Given the description of an element on the screen output the (x, y) to click on. 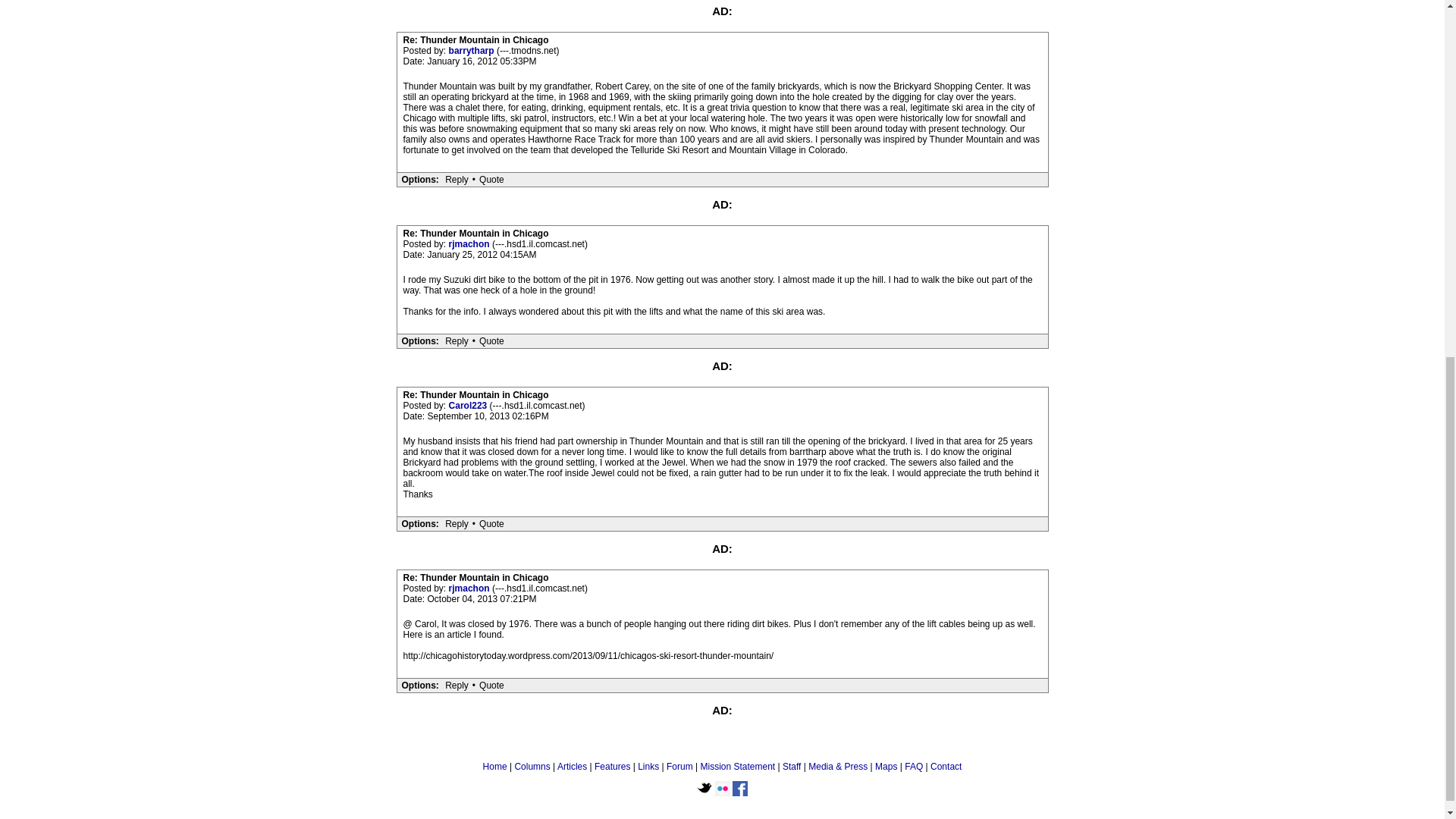
rjmachon (470, 588)
Quote (492, 340)
Quote (492, 685)
Quote (492, 523)
barrytharp (472, 50)
rjmachon (470, 244)
Quote (492, 179)
Reply (456, 340)
Articles (571, 766)
Carol223 (468, 405)
